Given the description of an element on the screen output the (x, y) to click on. 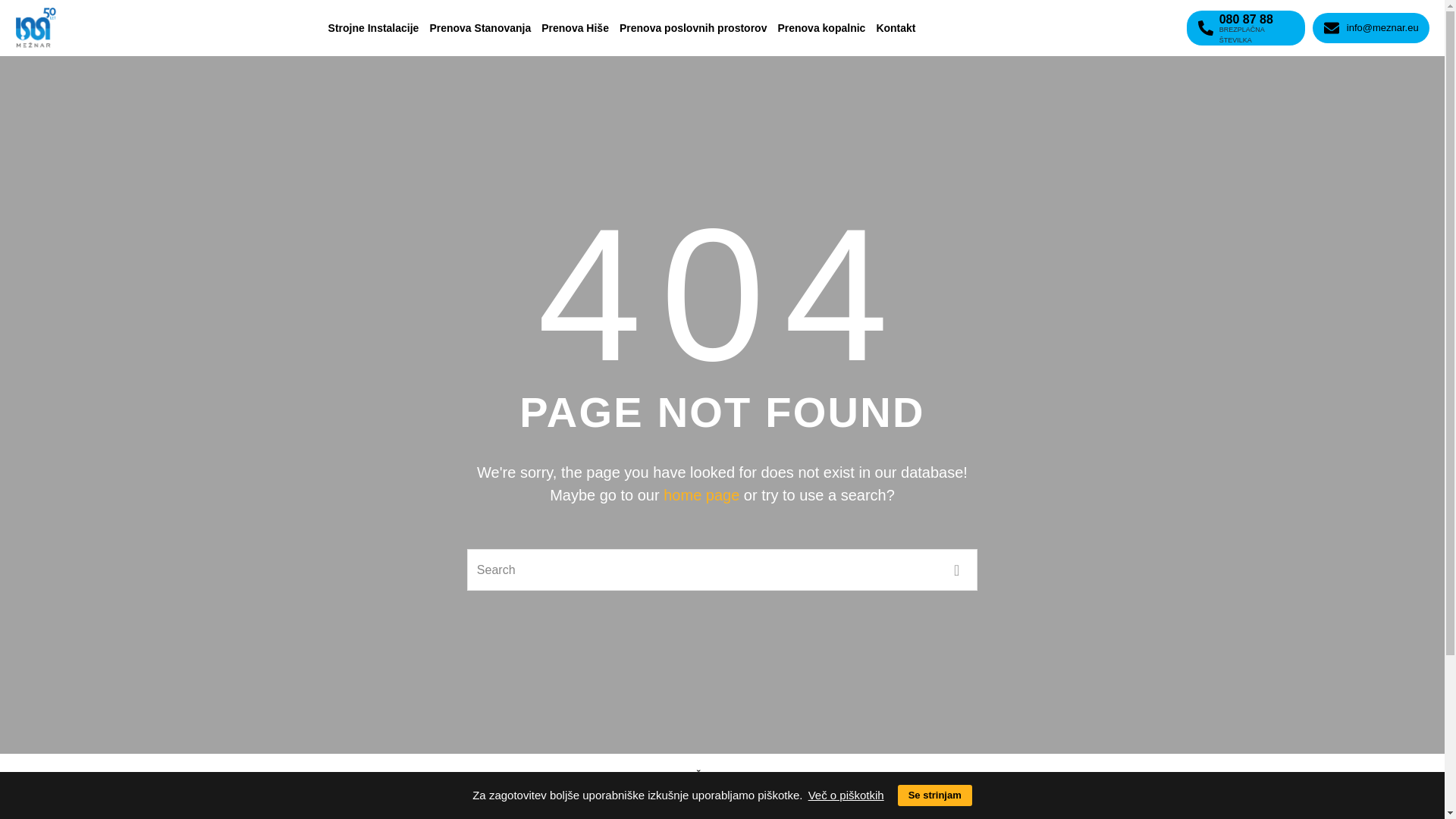
Prenova poslovnih prostorov (692, 27)
Kontakt (895, 27)
Strojne Instalacije (374, 27)
Kontaktirajte nas (1016, 798)
Prenova kopalnic (820, 27)
Se strinjam (935, 794)
Prenova stanovanja (722, 798)
Prenova Stanovanja (479, 27)
home page (701, 494)
